Given the description of an element on the screen output the (x, y) to click on. 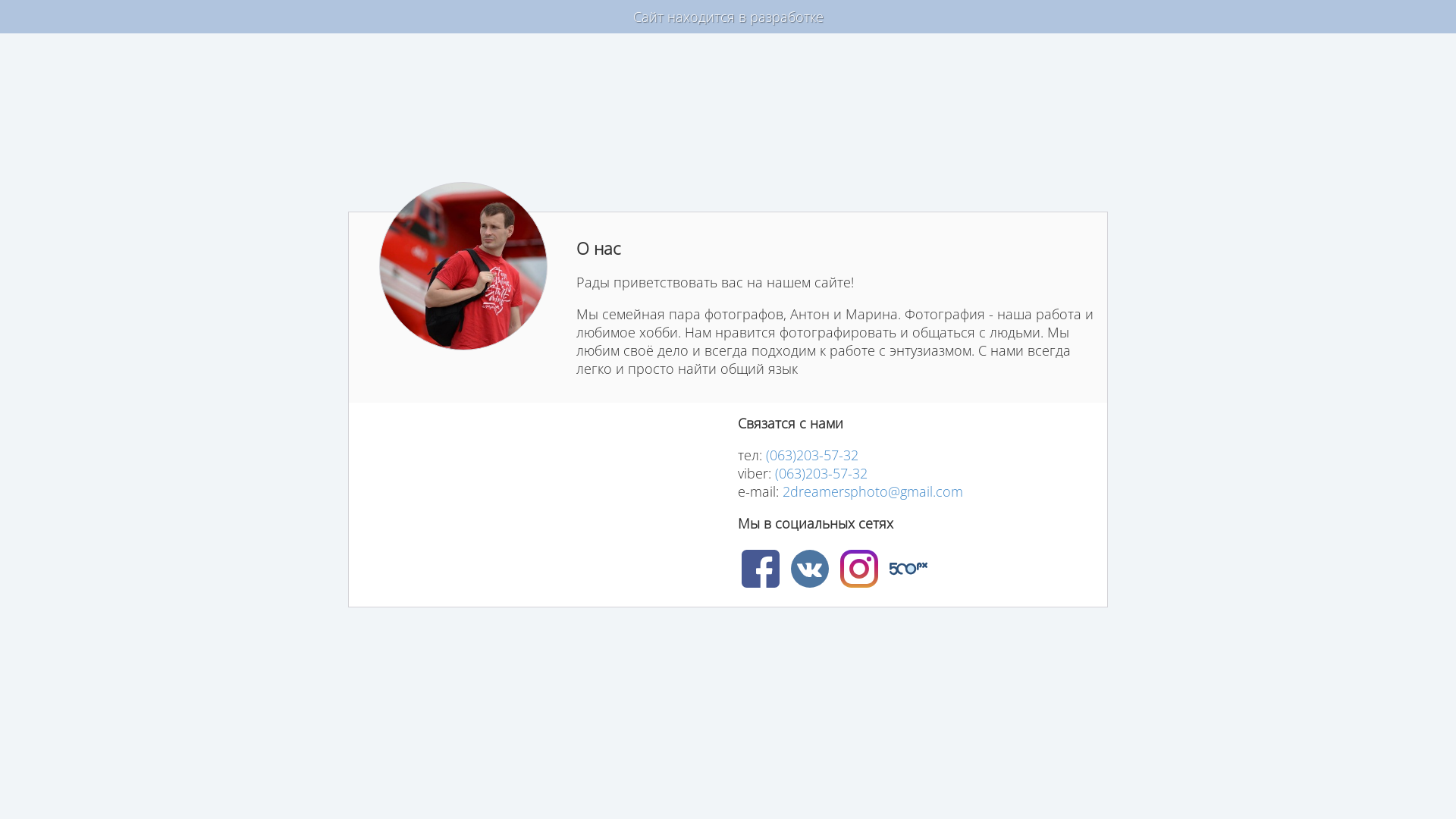
Instagram Element type: hover (859, 568)
(063)203-57-32 Element type: text (811, 454)
(063)203-57-32 Element type: text (821, 473)
2dreamersphoto@gmail.com Element type: text (872, 491)
Facebook Element type: hover (760, 568)
500px Element type: hover (907, 568)
Vkontakte Element type: hover (809, 568)
